Given the description of an element on the screen output the (x, y) to click on. 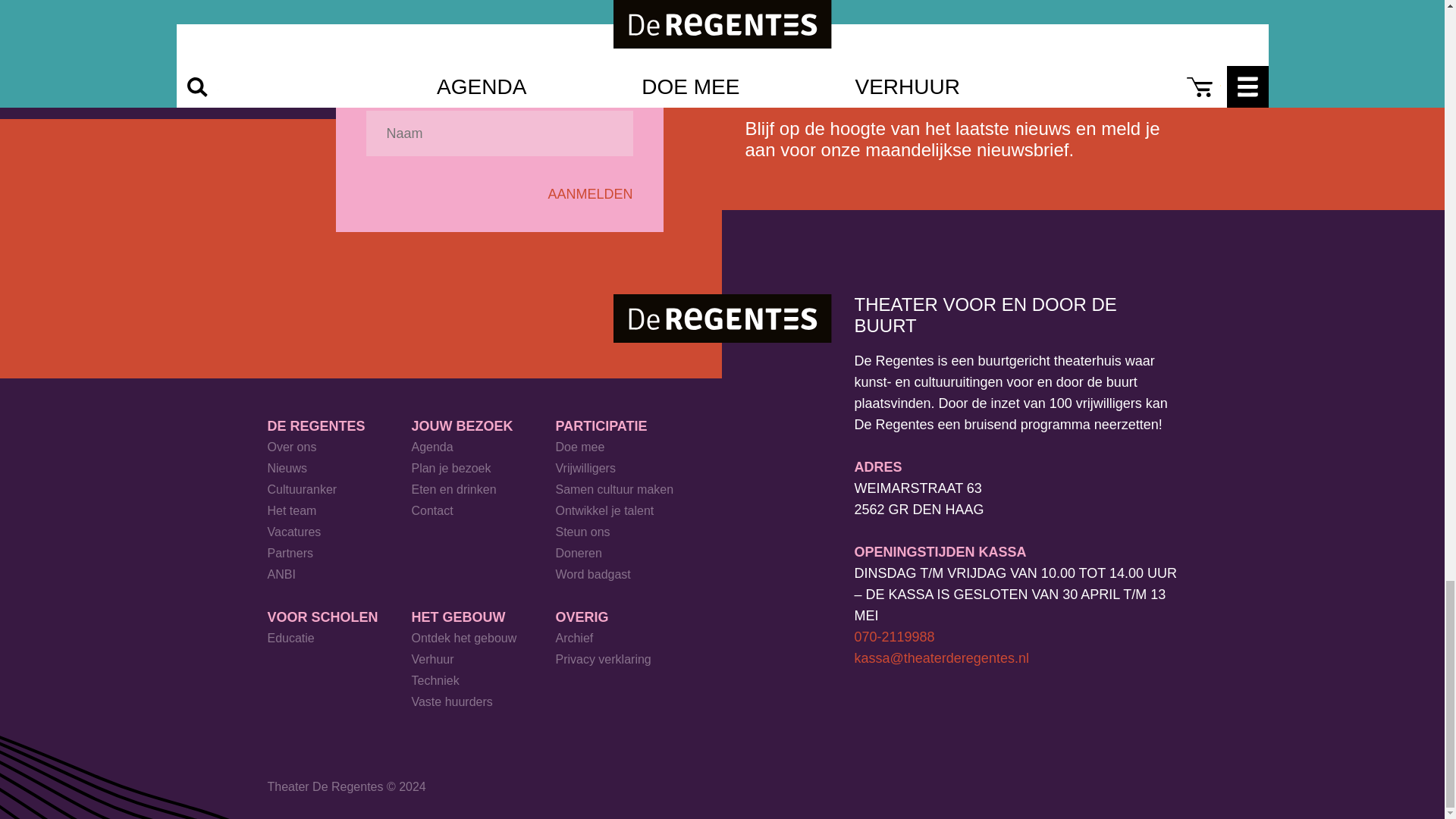
Aanmelden (589, 194)
